Given the description of an element on the screen output the (x, y) to click on. 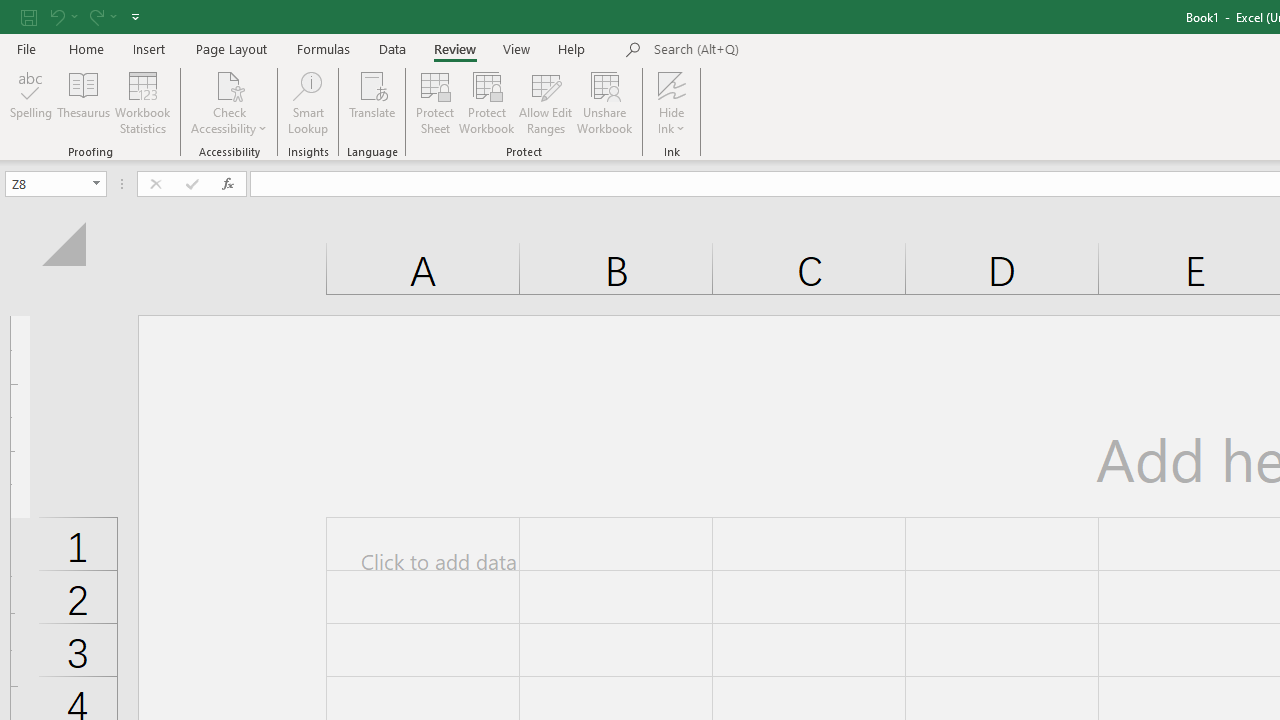
Hide Ink (671, 102)
Unshare Workbook (604, 102)
Check Accessibility (229, 102)
Smart Lookup (308, 102)
